Given the description of an element on the screen output the (x, y) to click on. 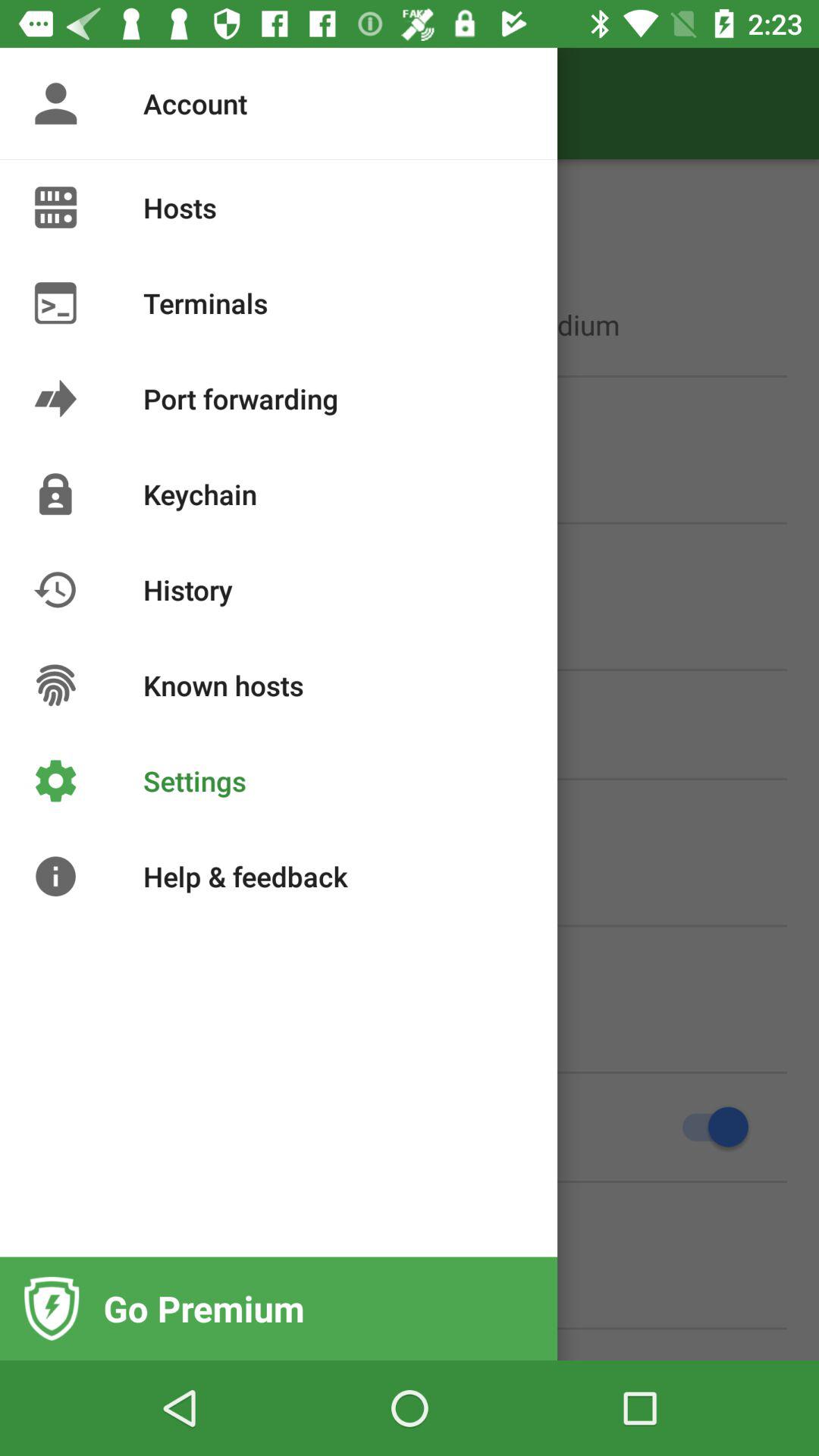
click on the image at left side of known hosts (55, 685)
click on the image of lock at left side of keychain (55, 494)
